Given the description of an element on the screen output the (x, y) to click on. 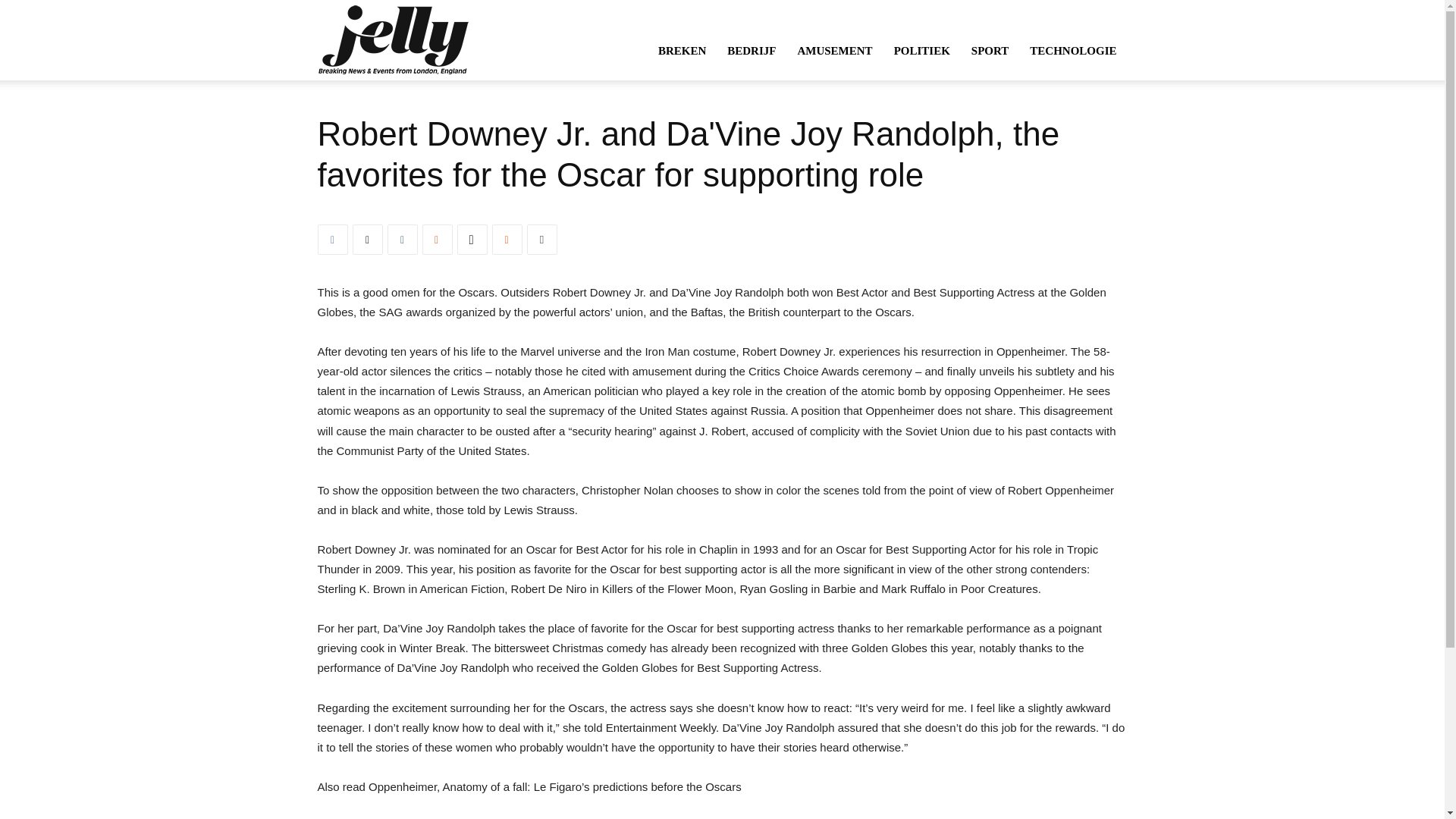
AMUSEMENT (834, 50)
TECHNOLOGIE (1072, 50)
Facebook (332, 239)
BEDRIJF (751, 50)
Twitter (366, 239)
SPORT (989, 50)
Jelly Nieuws (392, 39)
Afdrukken (540, 239)
Tumblr (401, 239)
ReddIt (506, 239)
